Given the description of an element on the screen output the (x, y) to click on. 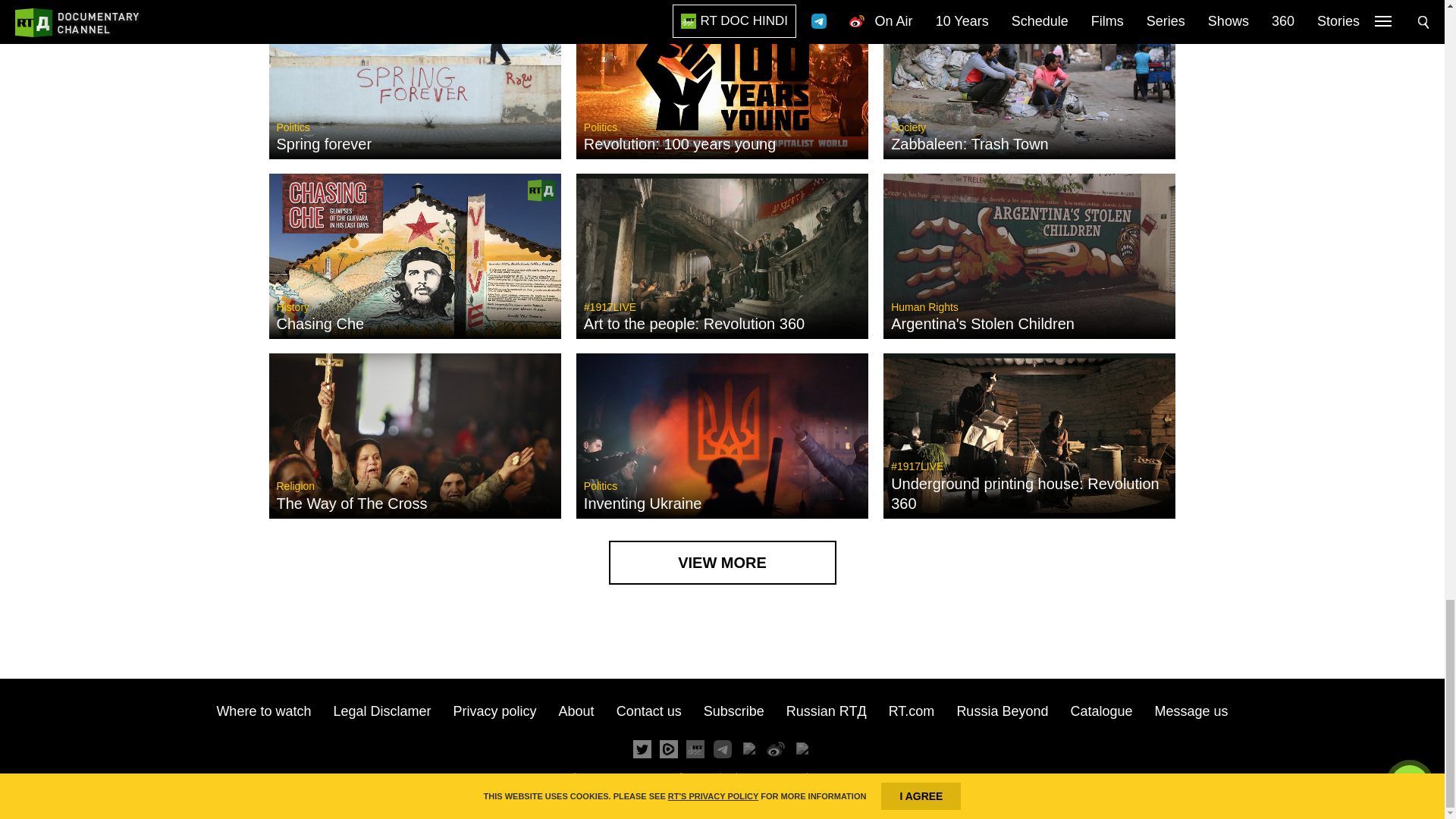
Society (908, 127)
History (292, 306)
Spring forever (323, 143)
Revolution: 100 years young (679, 143)
Chasing Che (320, 323)
Politics (292, 127)
Zabbaleen: Trash Town (969, 143)
Art to the people: Revolution 360 (694, 323)
Politics (600, 127)
